Given the description of an element on the screen output the (x, y) to click on. 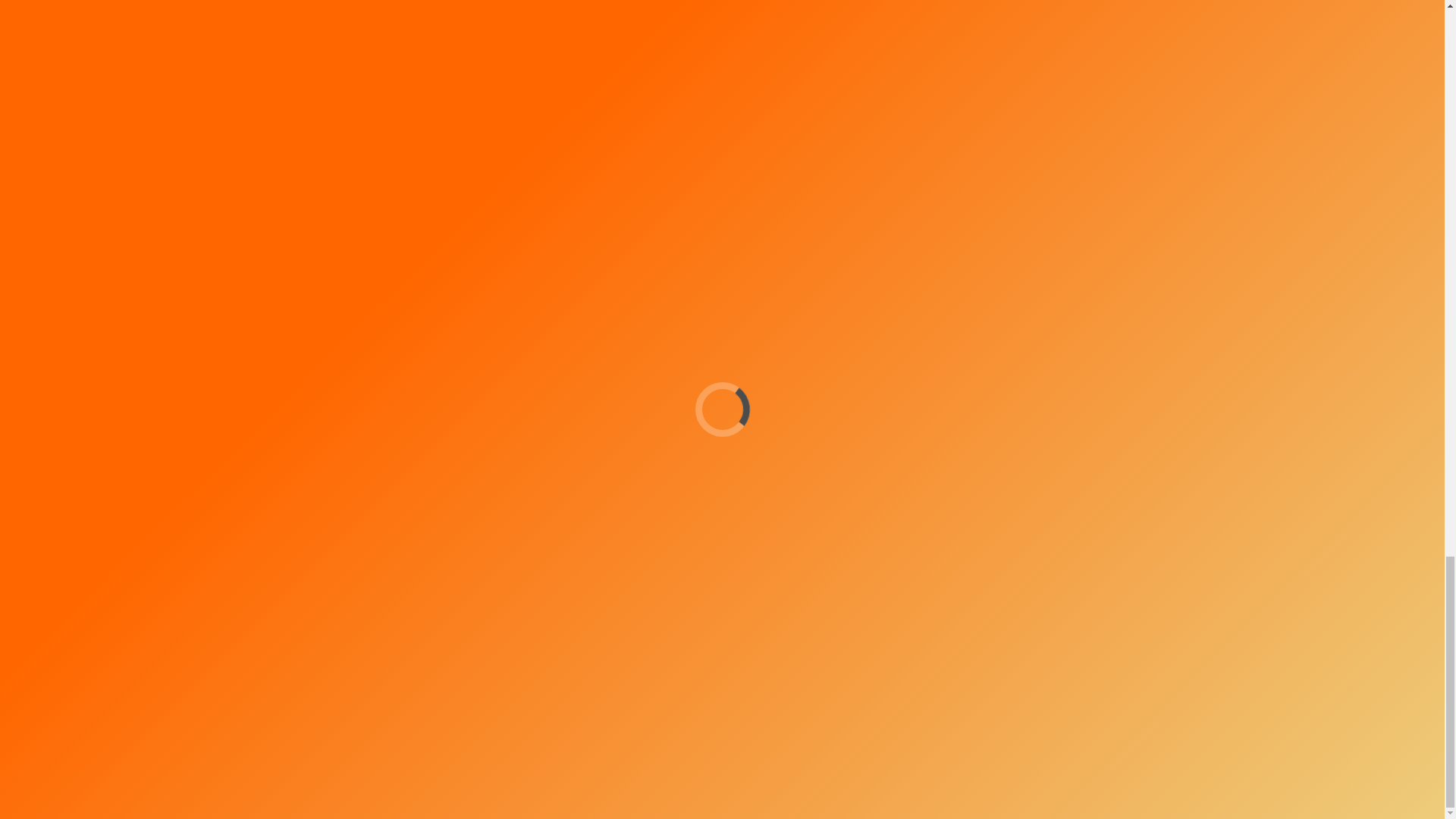
Facebook (854, 517)
Contact Us (1025, 652)
Go! (921, 462)
Go! (921, 462)
Instagram (823, 517)
